Given the description of an element on the screen output the (x, y) to click on. 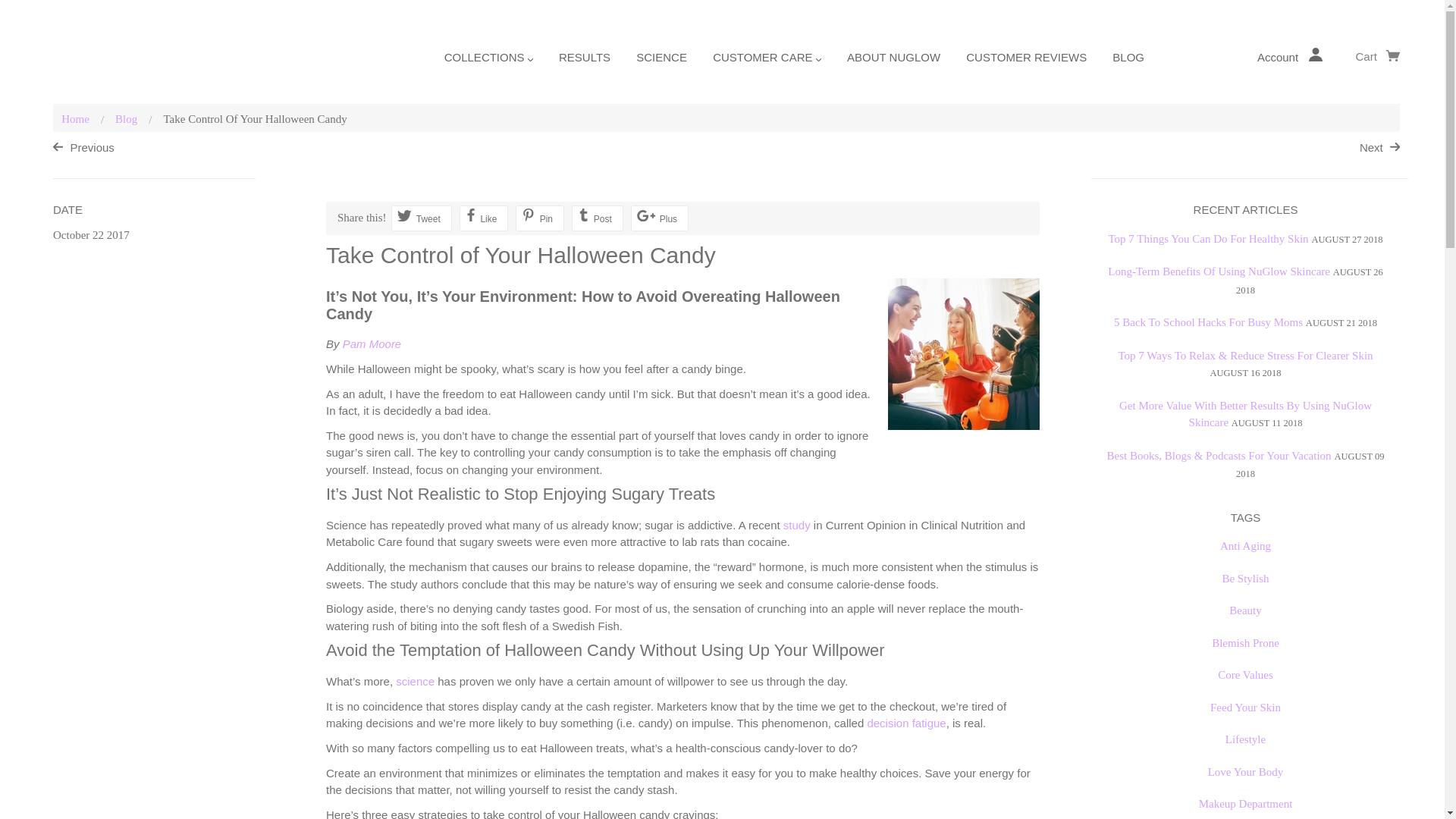
Decision Fatigue is Real (905, 722)
COLLECTIONS (488, 63)
BuyNuGlow (97, 53)
NuGlow Contributing Writer Pam Moore (371, 343)
Sugar is Addictive According to a Recent Study (796, 524)
